Given the description of an element on the screen output the (x, y) to click on. 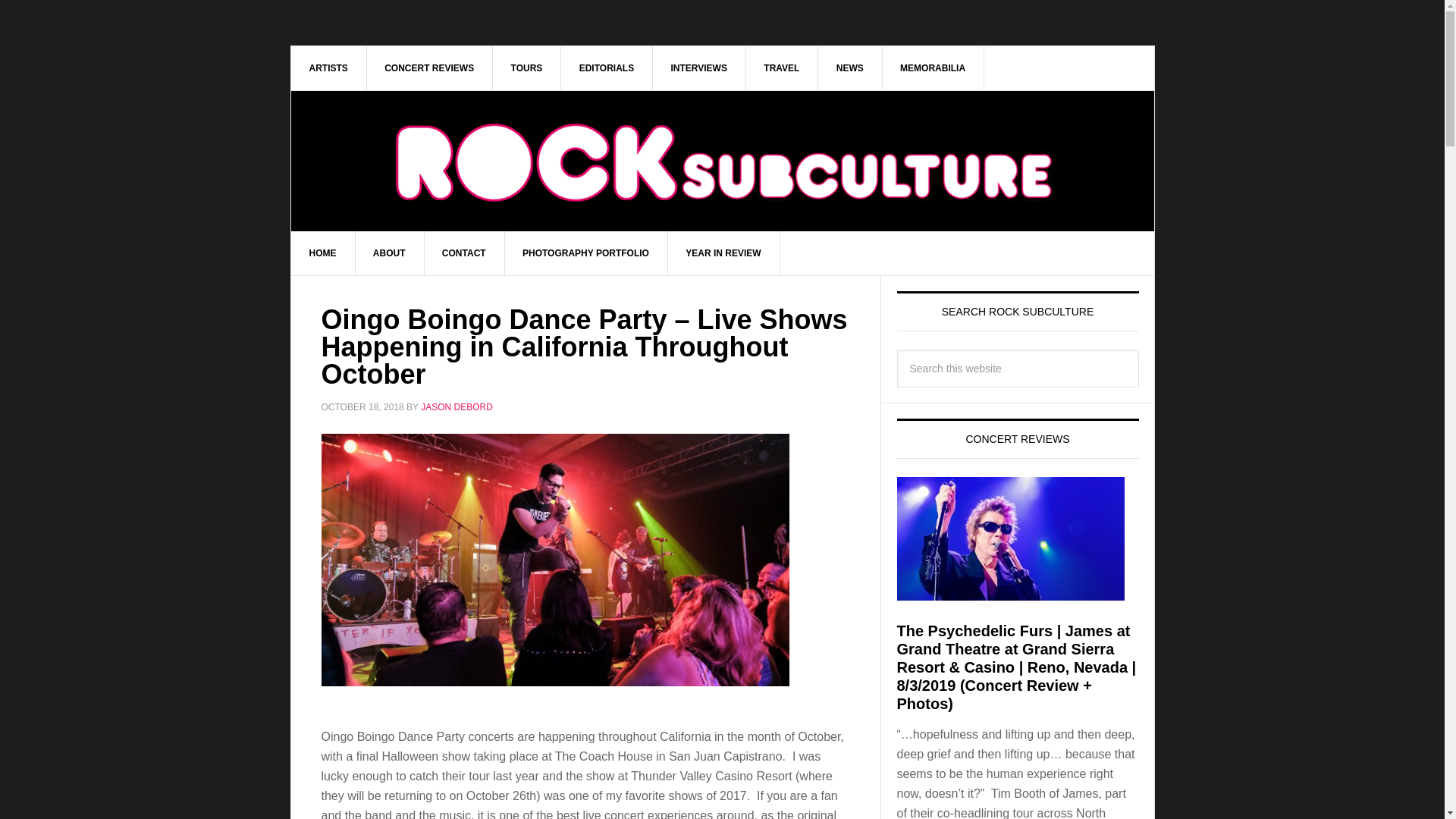
PHOTOGRAPHY PORTFOLIO (585, 252)
TOURS (527, 67)
CONCERT REVIEWS (429, 67)
INTERVIEWS (698, 67)
YEAR IN REVIEW (722, 252)
JASON DEBORD (456, 407)
HOME (323, 252)
CONTACT (464, 252)
TRAVEL (781, 67)
ABOUT (390, 252)
EDITORIALS (606, 67)
MEMORABILIA (933, 67)
Jason DeBord's Rock Subculture Journal (722, 138)
